Given the description of an element on the screen output the (x, y) to click on. 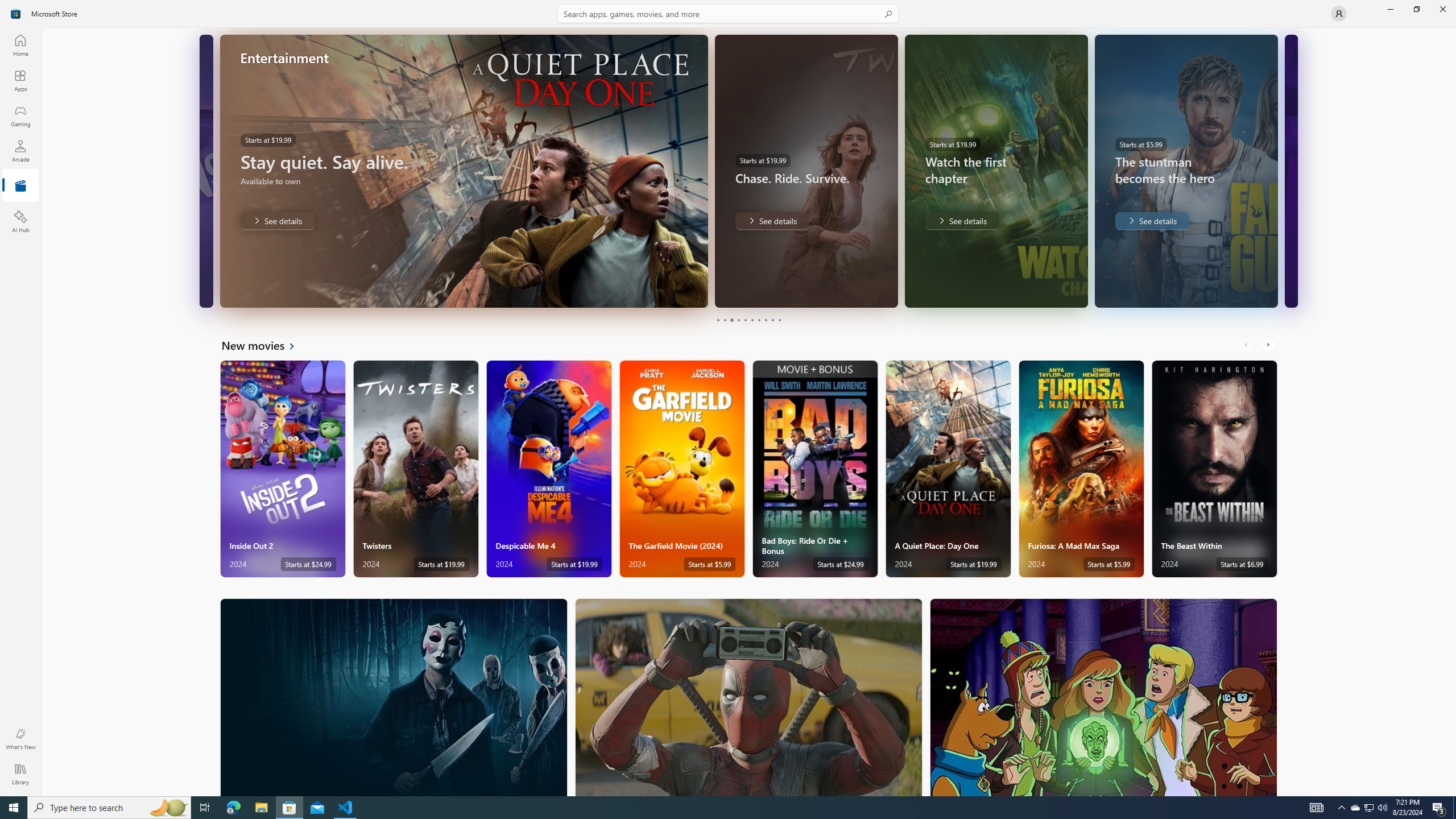
Pager (748, 319)
Minimize Microsoft Store (1390, 9)
